Given the description of an element on the screen output the (x, y) to click on. 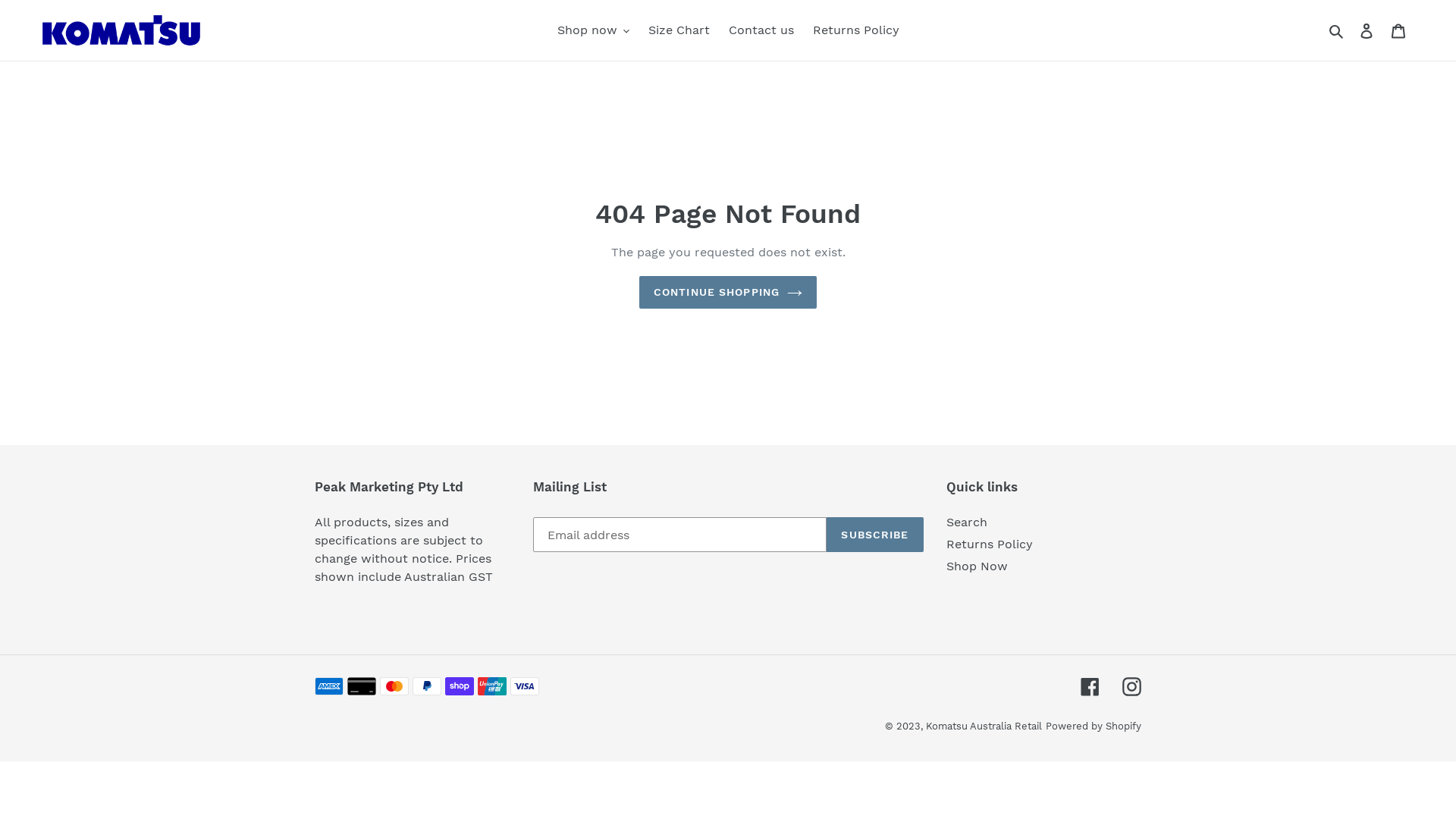
Search Element type: text (1337, 30)
Returns Policy Element type: text (989, 543)
CONTINUE SHOPPING Element type: text (727, 292)
Instagram Element type: text (1131, 686)
Cart Element type: text (1398, 30)
Powered by Shopify Element type: text (1093, 725)
Contact us Element type: text (760, 29)
Log in Element type: text (1366, 30)
Returns Policy Element type: text (855, 29)
Shop Now Element type: text (976, 565)
Search Element type: text (966, 521)
Shop now Element type: text (592, 29)
Komatsu Australia Retail Element type: text (983, 725)
Facebook Element type: text (1089, 686)
SUBSCRIBE Element type: text (874, 534)
Size Chart Element type: text (678, 29)
